Given the description of an element on the screen output the (x, y) to click on. 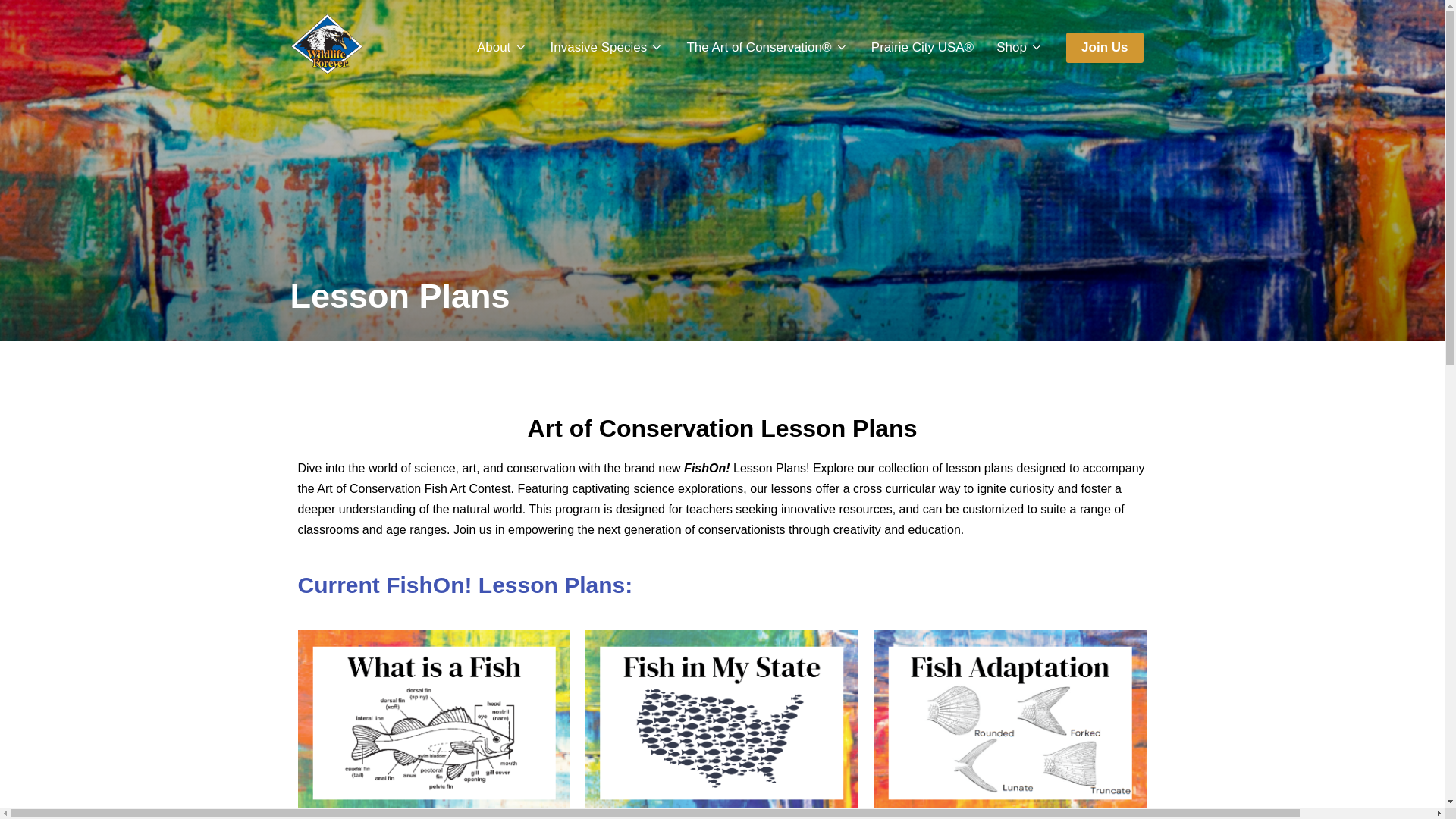
About (502, 47)
Invasive Species (606, 47)
